Given the description of an element on the screen output the (x, y) to click on. 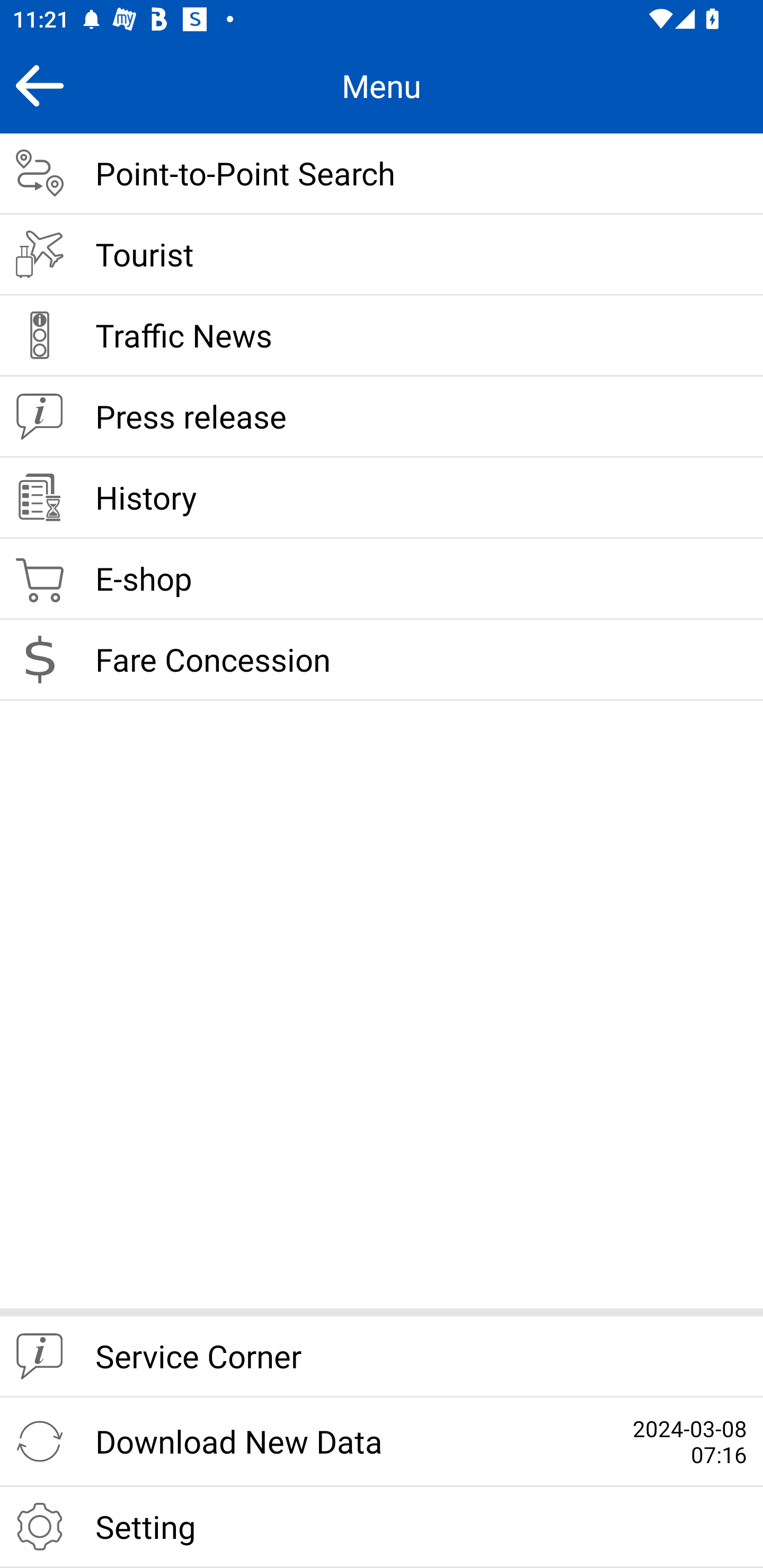
Back (39, 85)
Point-to-Point Search (381, 173)
Tourist (381, 255)
Traffic News (381, 336)
Press release (381, 416)
History (381, 498)
E-shop (381, 579)
Fare Concession (381, 659)
Service Corner (381, 1357)
Download New Data 2024-03-08
07:16 (381, 1441)
Setting (381, 1527)
